Given the description of an element on the screen output the (x, y) to click on. 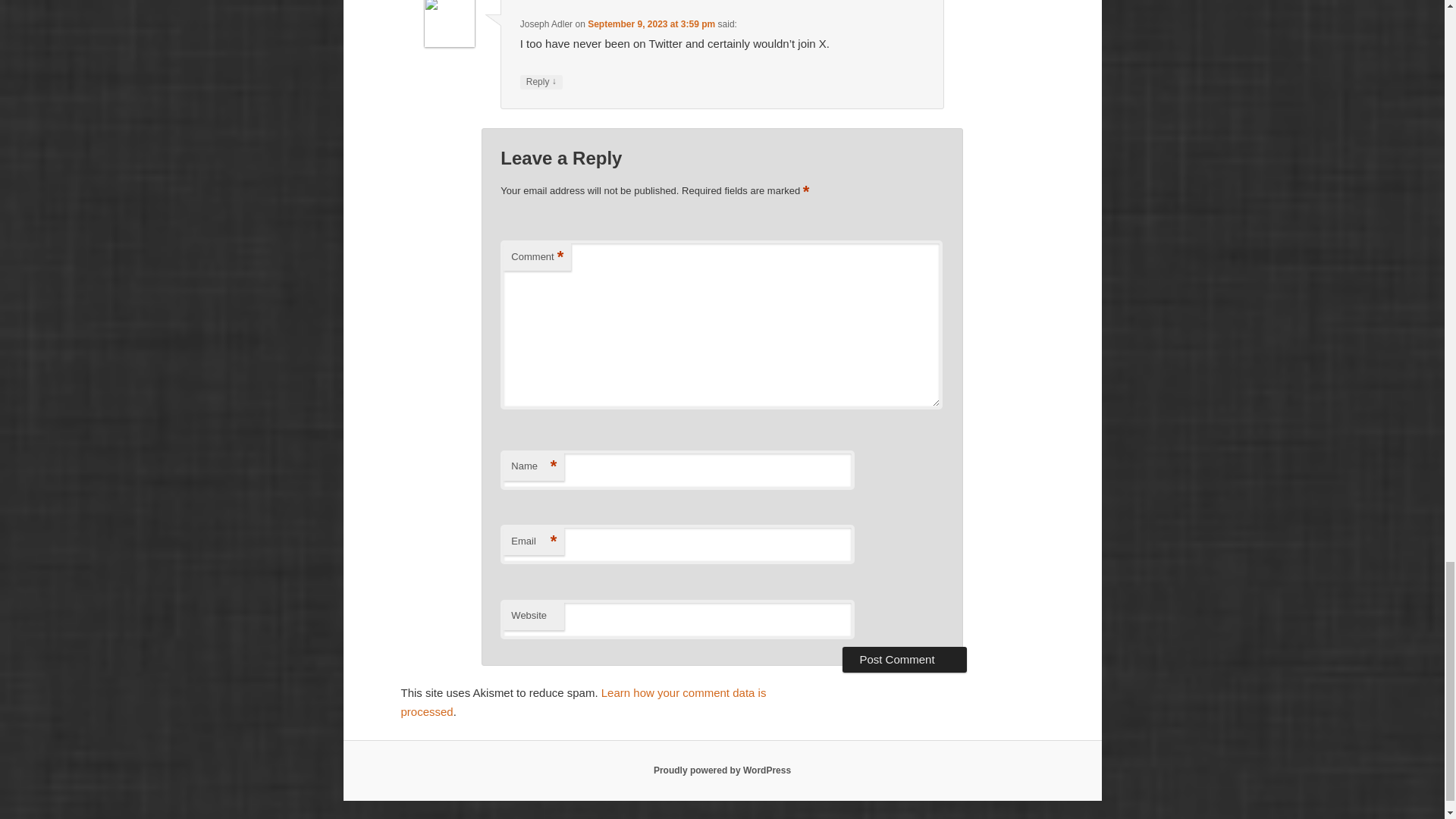
Post Comment (904, 659)
September 9, 2023 at 3:59 pm (651, 23)
Proudly powered by WordPress (721, 769)
Post Comment (904, 659)
Semantic Personal Publishing Platform (721, 769)
Learn how your comment data is processed (582, 701)
